Given the description of an element on the screen output the (x, y) to click on. 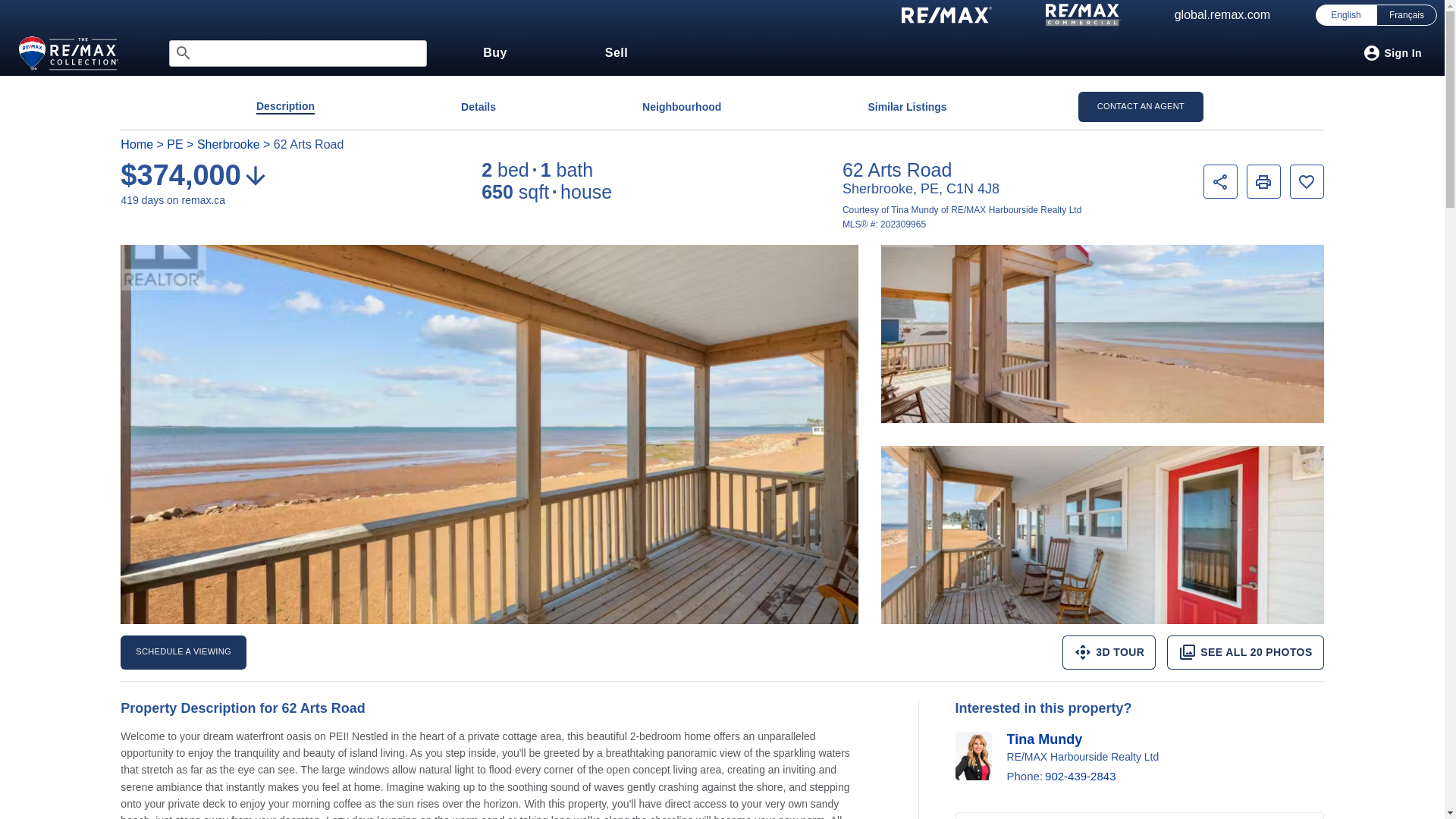
Global (1221, 15)
Home (136, 144)
Neighbourhood (681, 106)
Residential (946, 15)
Description (285, 106)
English (1345, 14)
See All 20 Photos (1245, 652)
global.remax.com (1221, 15)
Similar Listings (906, 106)
Buy (494, 53)
Collection (70, 54)
Sherbrooke (228, 144)
Sell (616, 53)
3D Tour (1109, 652)
Details (478, 106)
